Given the description of an element on the screen output the (x, y) to click on. 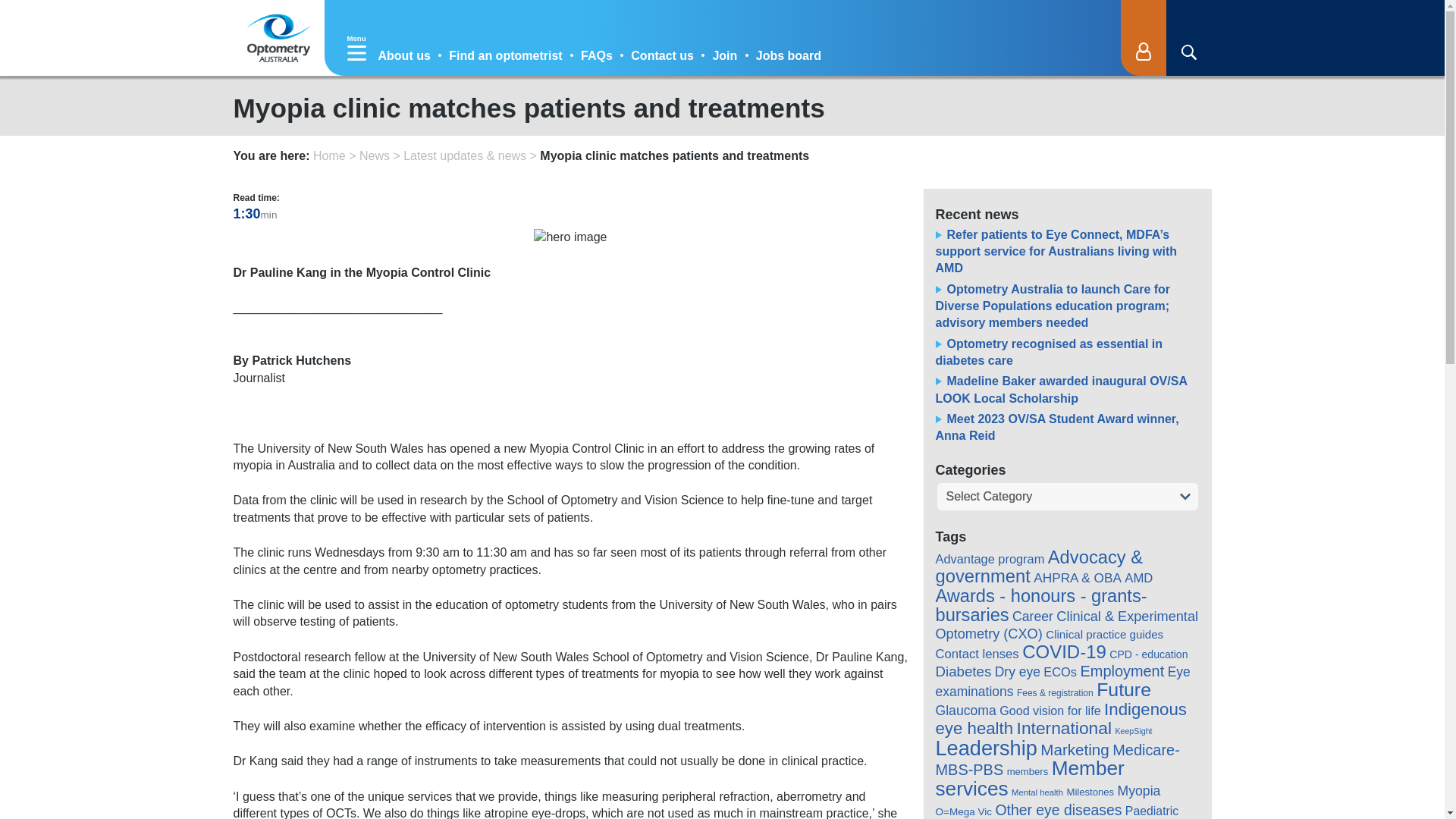
Go to Optometry Australia. (329, 155)
Go to News. (374, 155)
